Given the description of an element on the screen output the (x, y) to click on. 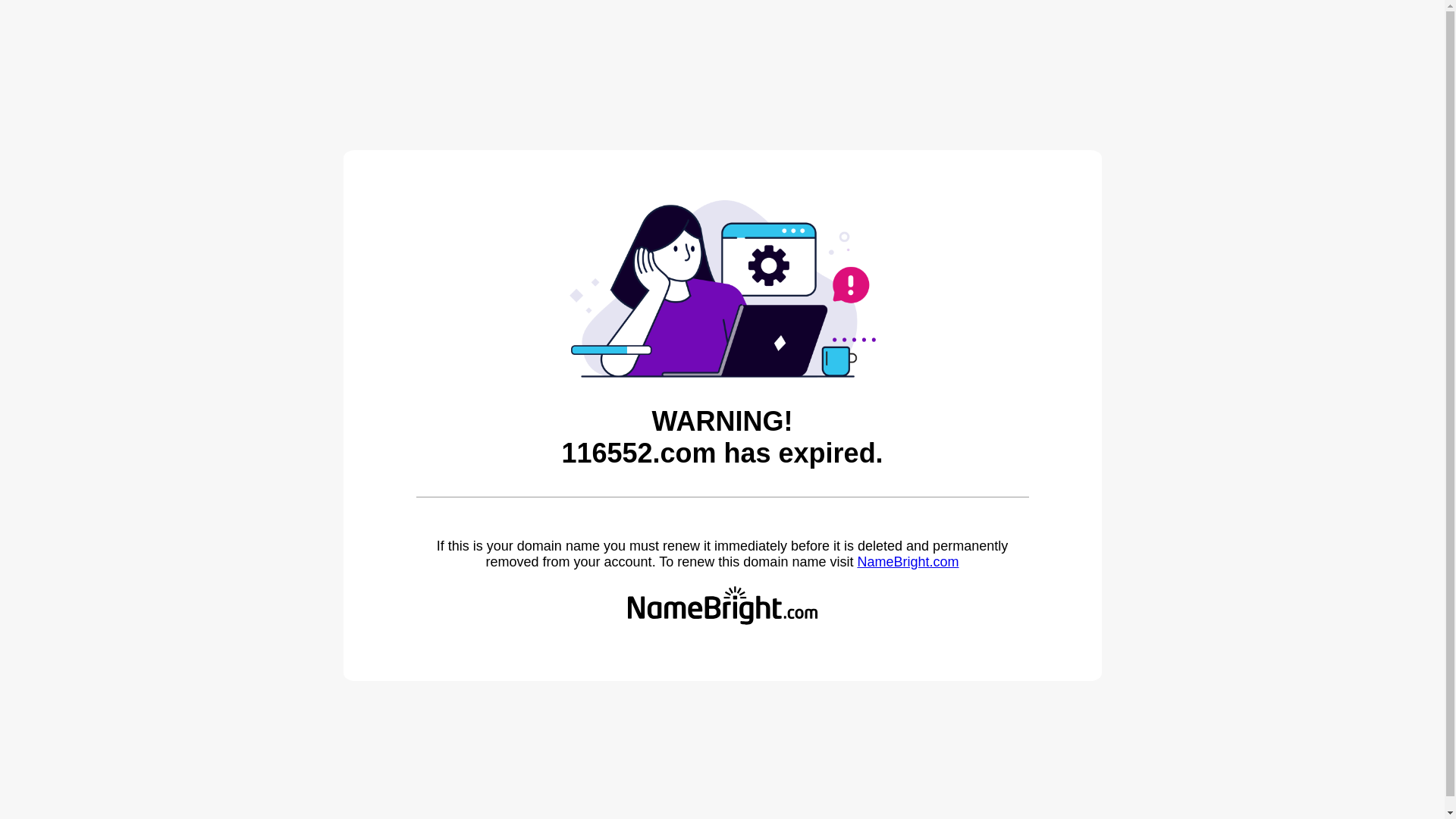
NameBright.com Element type: text (907, 561)
